Given the description of an element on the screen output the (x, y) to click on. 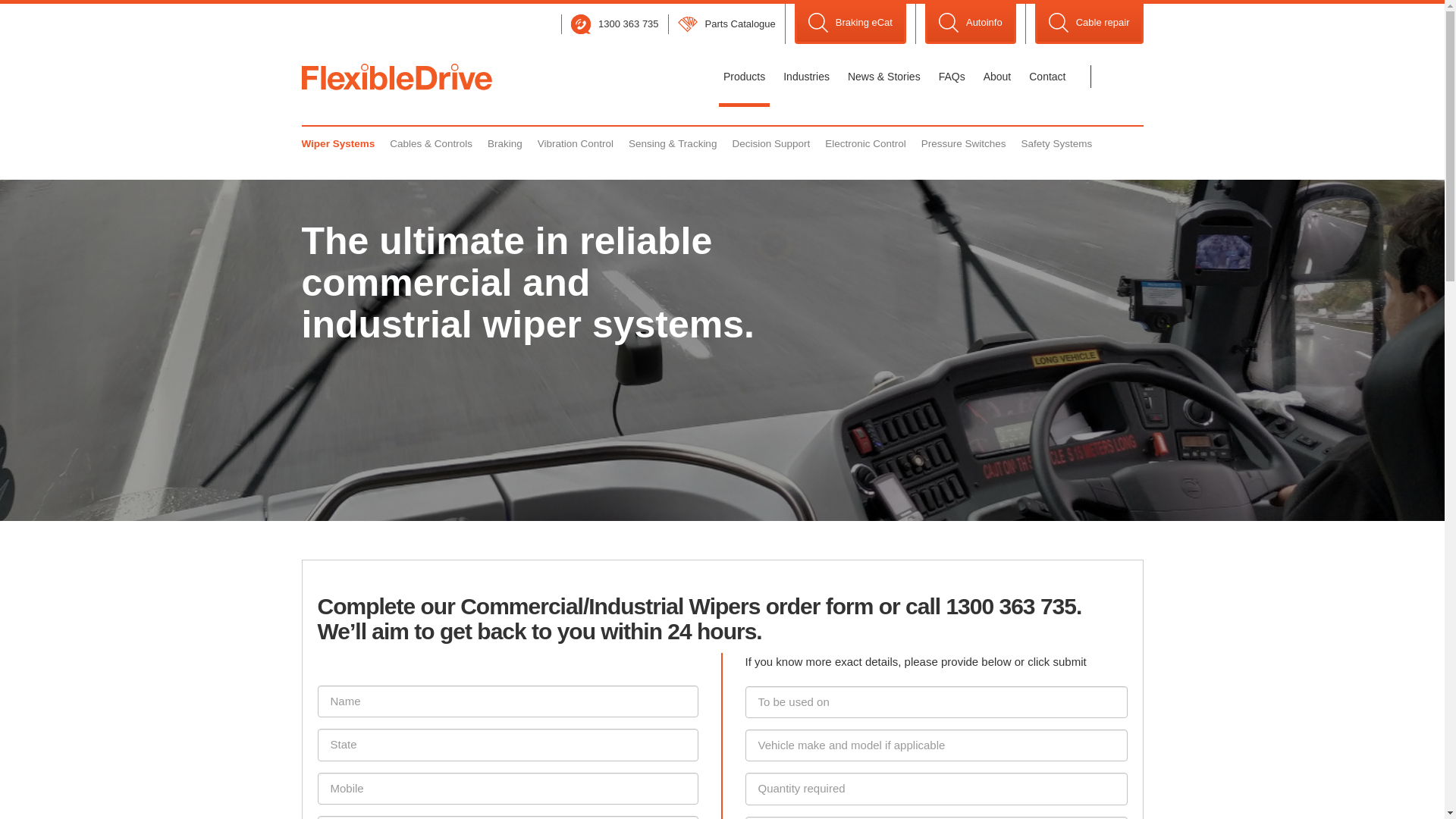
Sensing & Tracking Element type: text (672, 143)
Parts Catalogue Element type: text (726, 23)
Cables & Controls Element type: text (430, 143)
Decision Support Element type: text (770, 143)
1300 363 735 Element type: text (614, 23)
Vibration Control Element type: text (575, 143)
Safety Systems Element type: text (1056, 143)
Wiper Systems Element type: text (338, 143)
Industries Element type: text (806, 76)
Electronic Control Element type: text (865, 143)
Contact Element type: text (1046, 76)
About Element type: text (997, 76)
FAQs Element type: text (951, 76)
Pressure Switches Element type: text (963, 143)
Products Element type: text (744, 76)
Braking Element type: text (504, 143)
Main menu Element type: text (396, 76)
Cable repair Element type: text (1089, 23)
News & Stories Element type: text (883, 76)
Untitled Element type: text (690, 76)
Braking eCat Element type: text (850, 23)
Autoinfo Element type: text (970, 23)
